Given the description of an element on the screen output the (x, y) to click on. 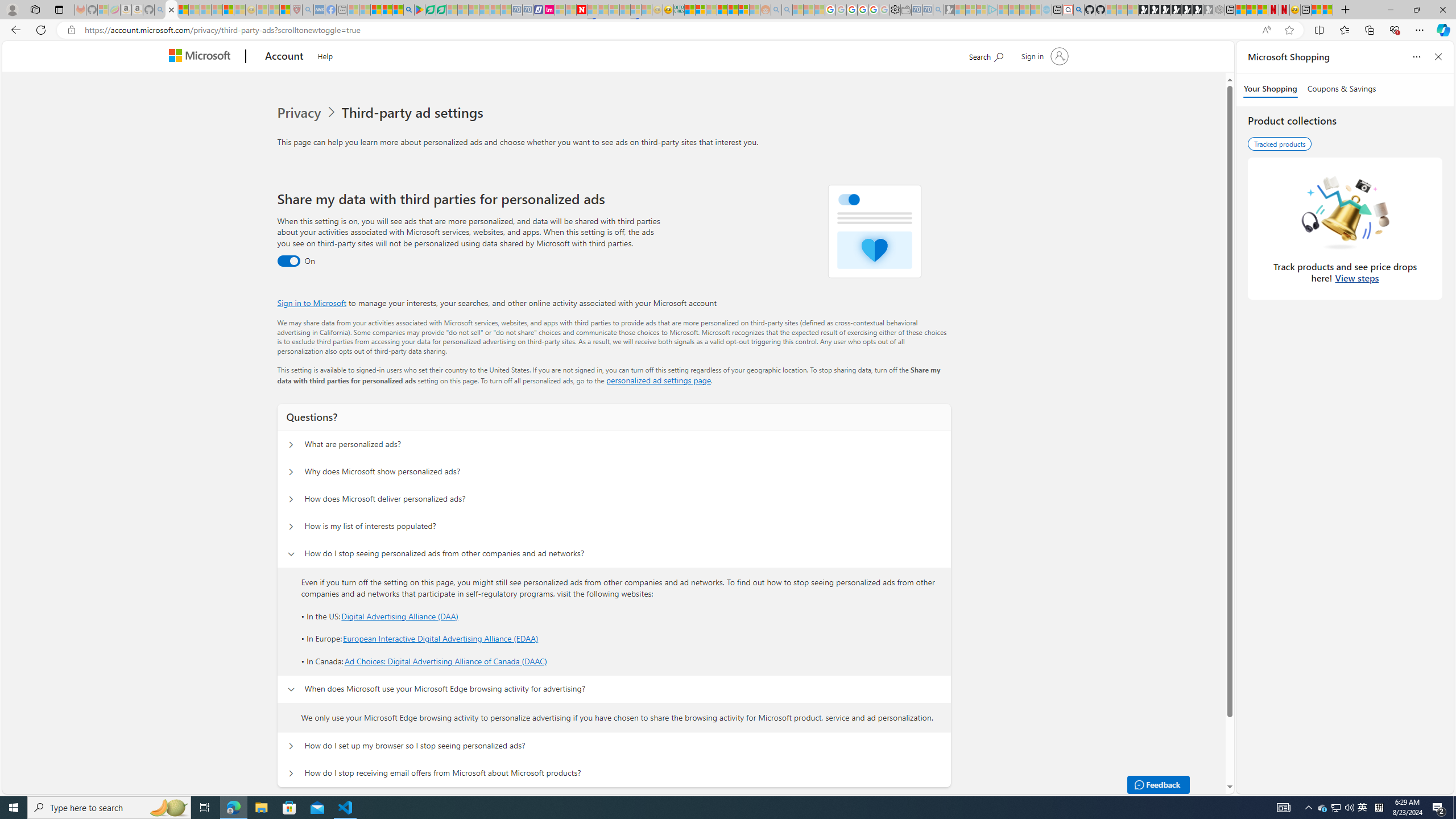
Terms of Use Agreement (430, 9)
Digital Advertising Alliance (DAA) (399, 615)
Jobs - lastminute.com Investor Portal (548, 9)
